Given the description of an element on the screen output the (x, y) to click on. 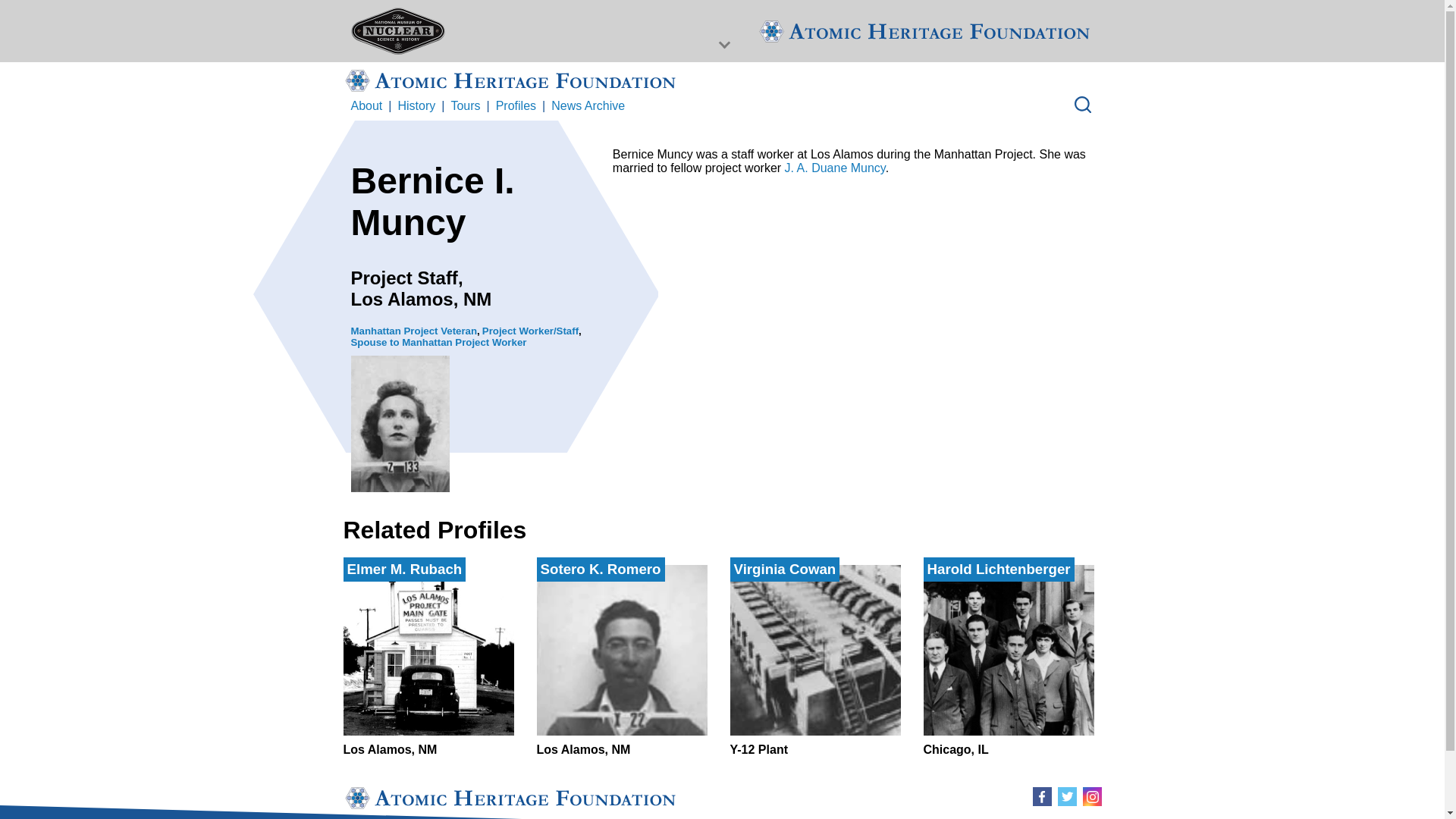
Profiles (515, 106)
J. A. Duane Muncy (834, 167)
Tours (464, 106)
History (416, 106)
Spouse to Manhattan Project Worker (437, 342)
News Archive (814, 660)
About (587, 106)
Manhattan Project Veteran (1008, 660)
